Given the description of an element on the screen output the (x, y) to click on. 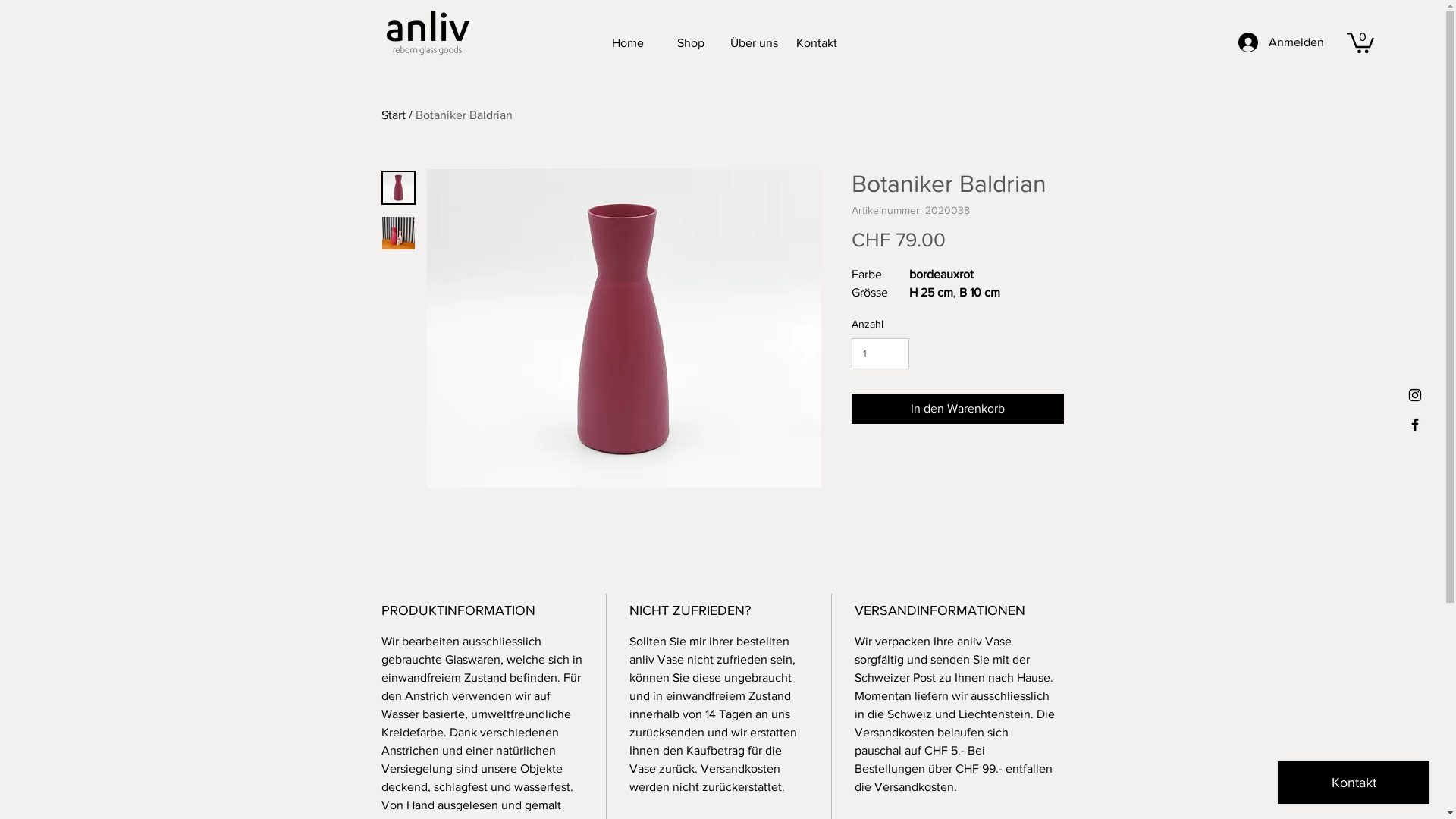
Home Element type: text (627, 42)
Start Element type: text (392, 114)
Botaniker Baldrian Element type: text (463, 114)
Anmelden Element type: text (1280, 42)
anliv Home Element type: hover (426, 32)
In den Warenkorb Element type: text (956, 408)
0 Element type: text (1360, 41)
Shop Element type: text (690, 42)
Kontakt Element type: text (816, 42)
